Given the description of an element on the screen output the (x, y) to click on. 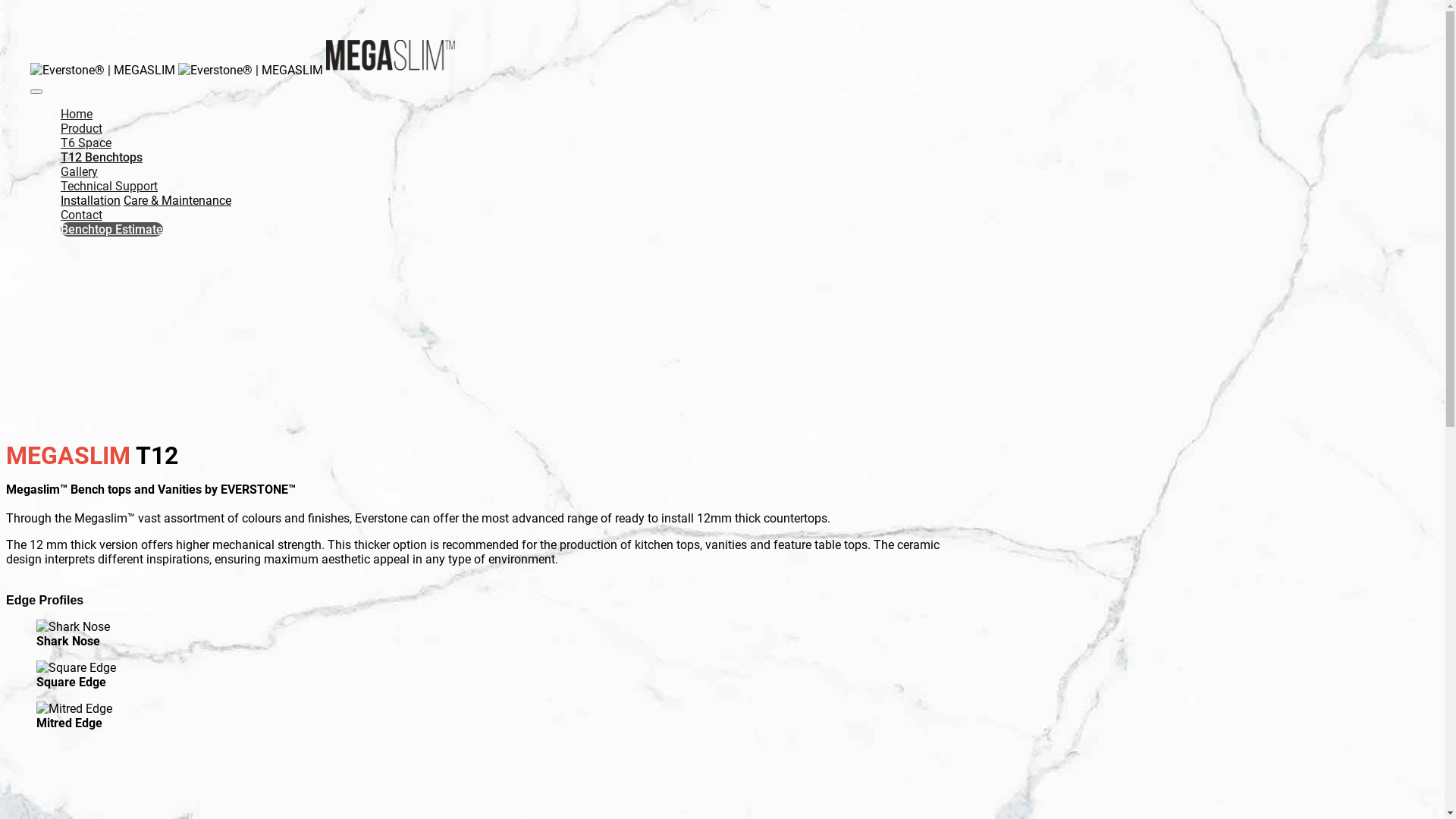
Contact Element type: text (81, 214)
T12 Benchtops Element type: text (101, 157)
T6 Space Element type: text (85, 142)
Installation Element type: text (90, 200)
Technical Support Element type: text (108, 185)
Gallery Element type: text (78, 171)
Care & Maintenance Element type: text (177, 200)
Home Element type: text (76, 113)
Benchtop Estimate Element type: text (111, 229)
Product Element type: text (81, 128)
